Given the description of an element on the screen output the (x, y) to click on. 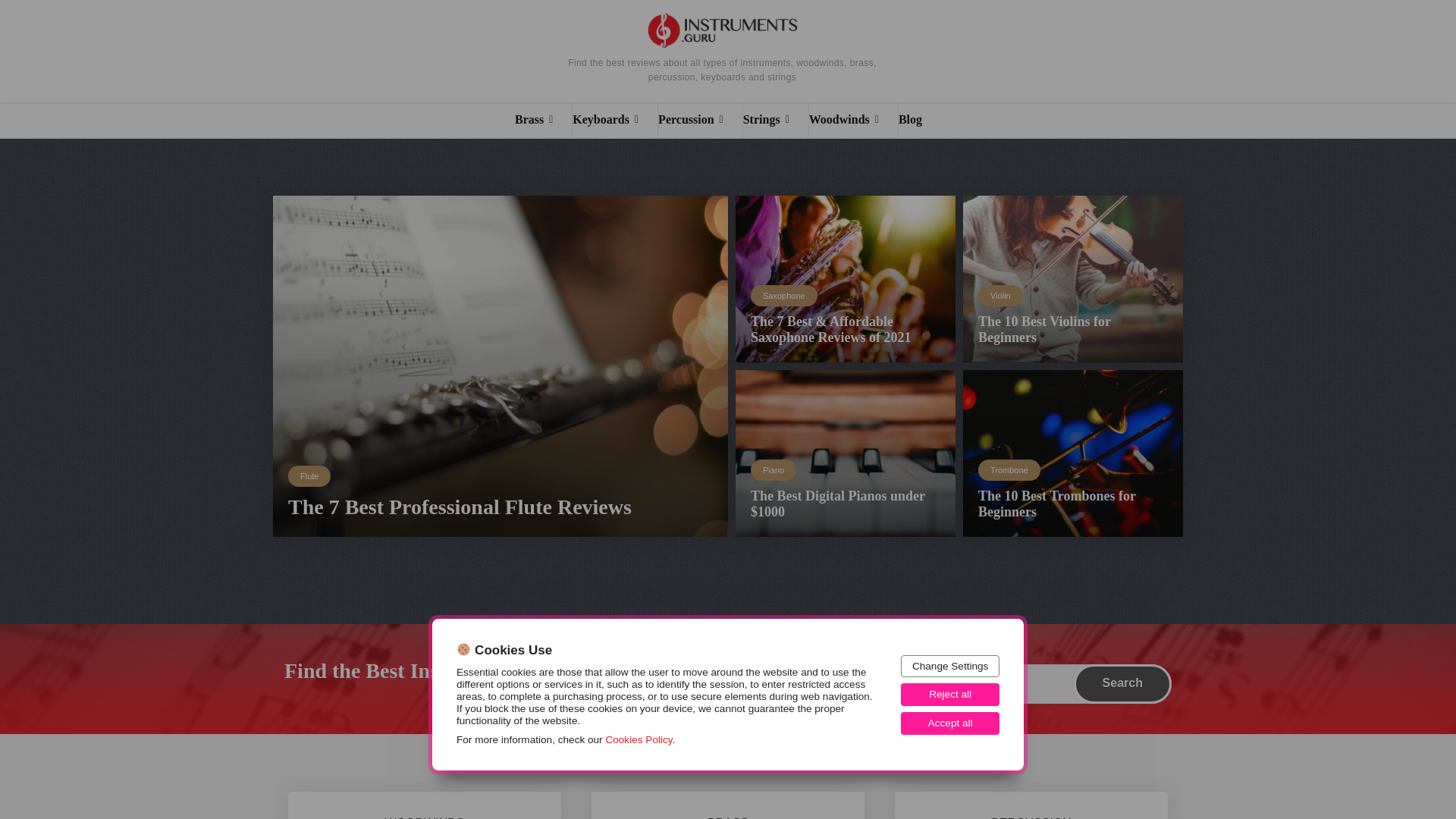
Woodwinds (853, 121)
Percussion (700, 121)
Keyboards (615, 121)
Strings (775, 121)
Brass (543, 121)
Blog (919, 121)
